Given the description of an element on the screen output the (x, y) to click on. 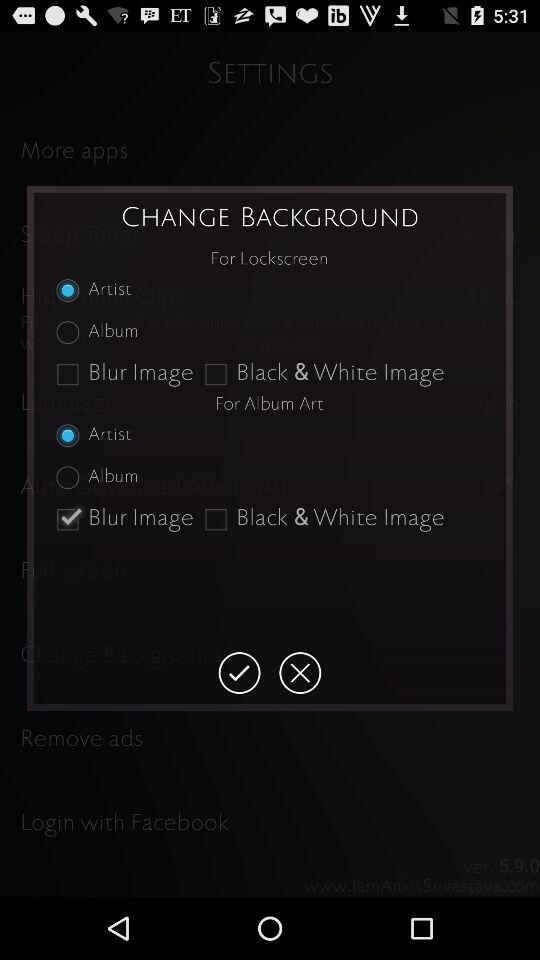
accepts changes (239, 673)
